Given the description of an element on the screen output the (x, y) to click on. 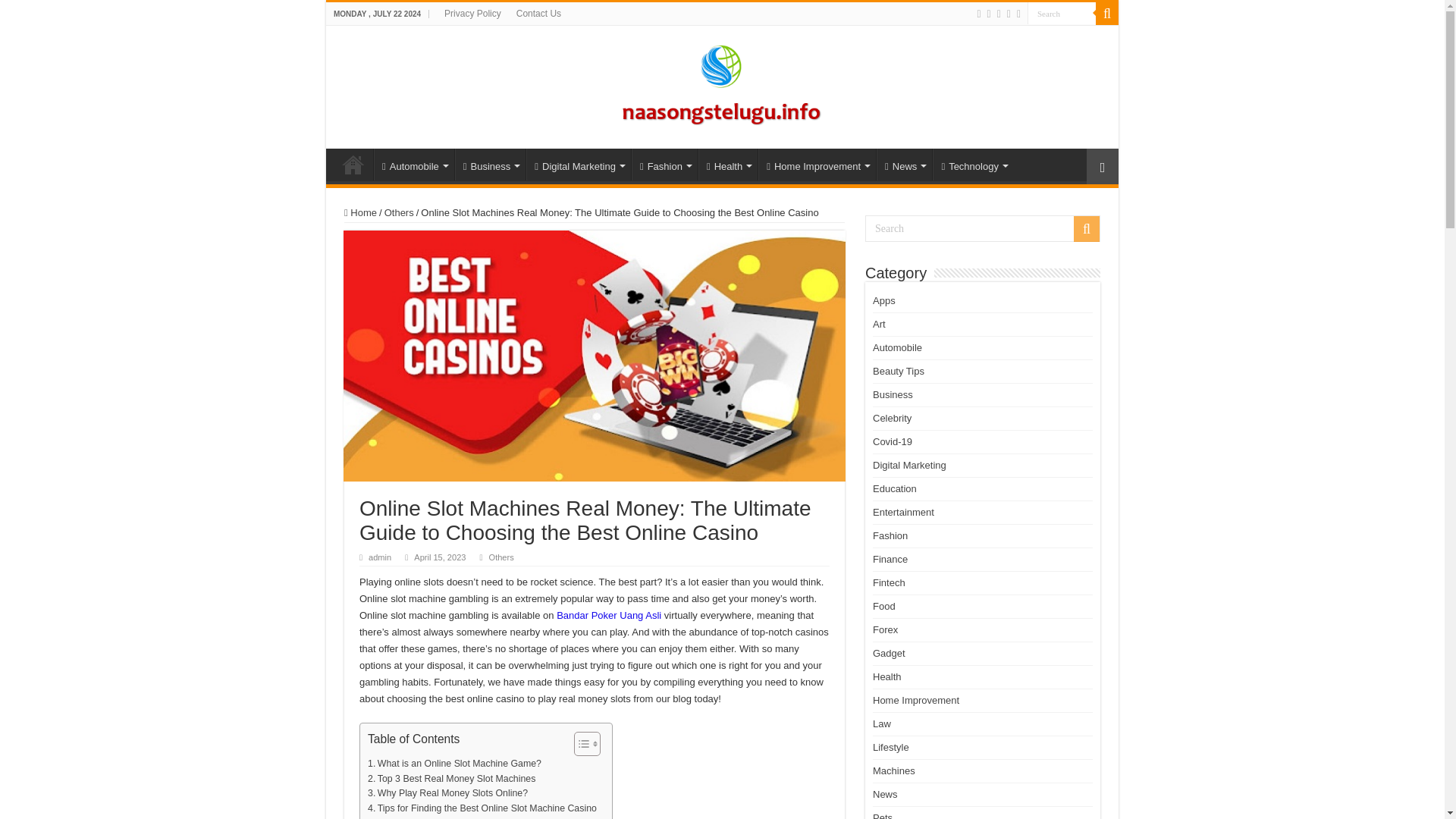
Home (352, 164)
Facebook (978, 13)
Search (1061, 13)
instagram (1018, 13)
Privacy Policy (472, 13)
Search (1107, 13)
Pinterest (999, 13)
Twitter (988, 13)
Search (1061, 13)
LinkedIn (1008, 13)
Automobile (414, 164)
Contact Us (538, 13)
Business (489, 164)
Search (1061, 13)
